Given the description of an element on the screen output the (x, y) to click on. 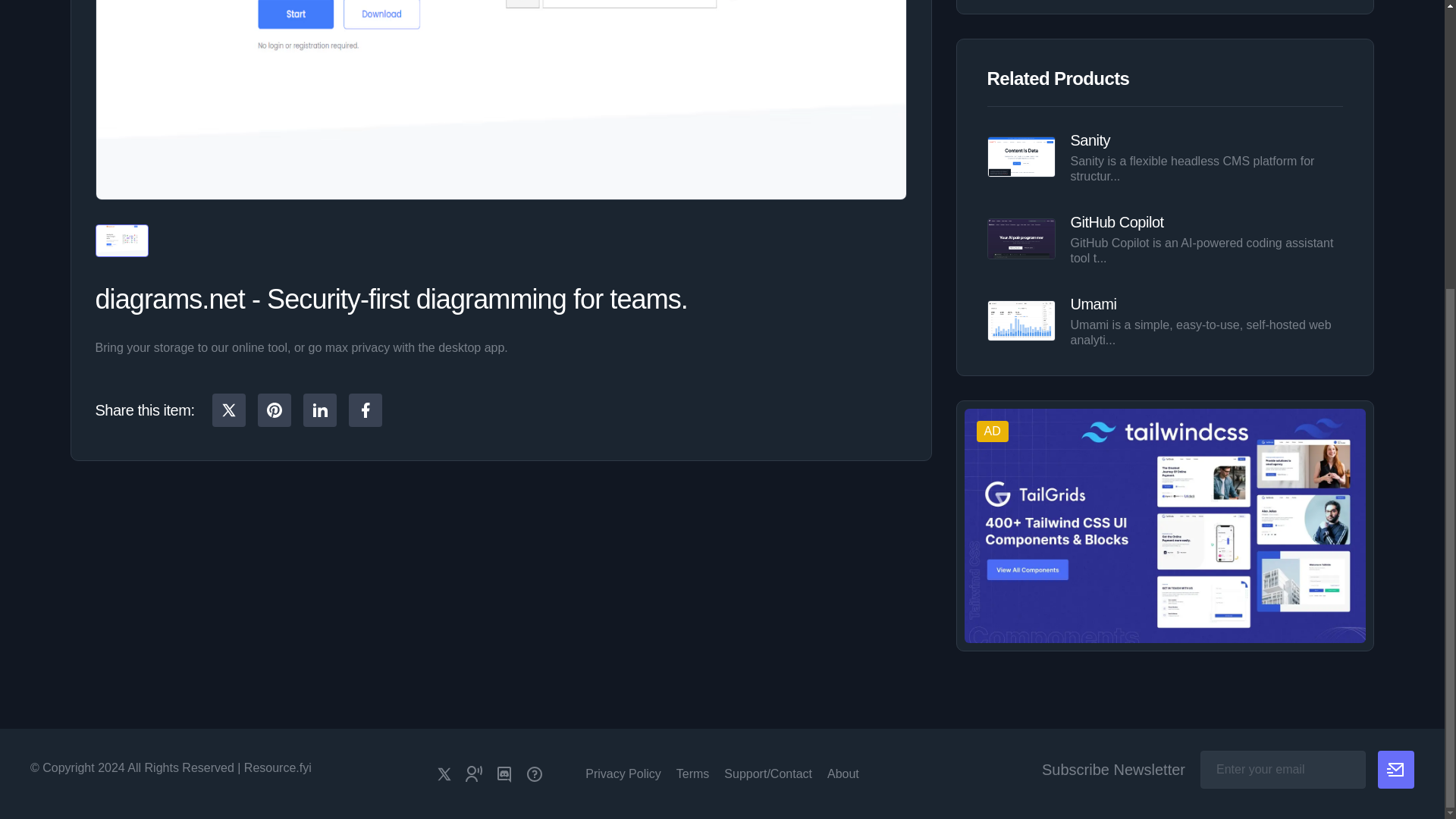
Terms (693, 773)
Sanity (1090, 139)
About (843, 773)
Privacy Policy (623, 773)
GitHub Copilot (1116, 221)
Umami (1093, 303)
